Given the description of an element on the screen output the (x, y) to click on. 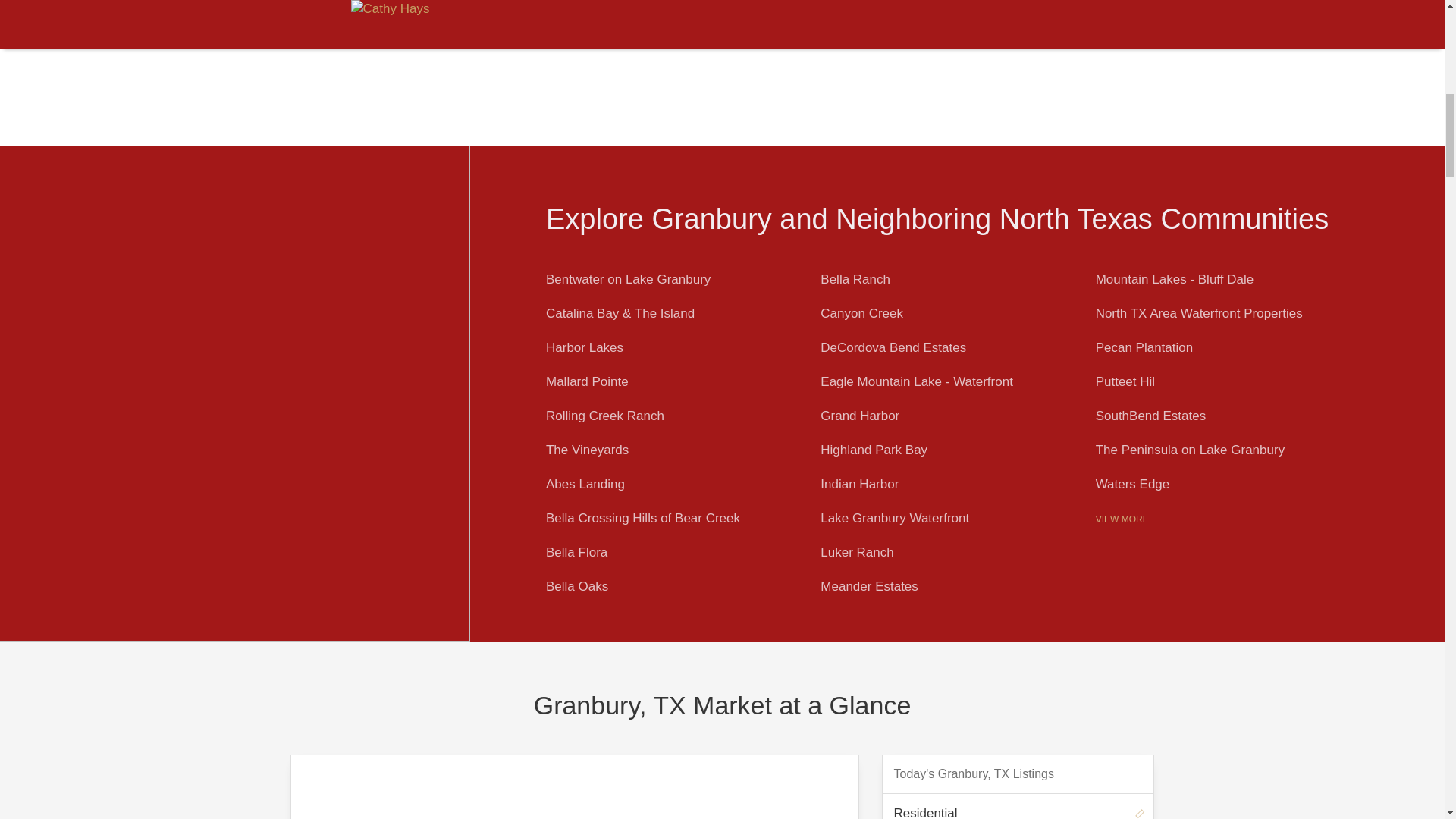
View  Bentwater on Lake Granbury  (628, 278)
View  Mallard Pointe (587, 381)
View Abes Landing (585, 483)
View  The Vineyards (587, 450)
View  Rolling Creek Ranch  (604, 415)
View  Harbor Lakes (584, 347)
